Given the description of an element on the screen output the (x, y) to click on. 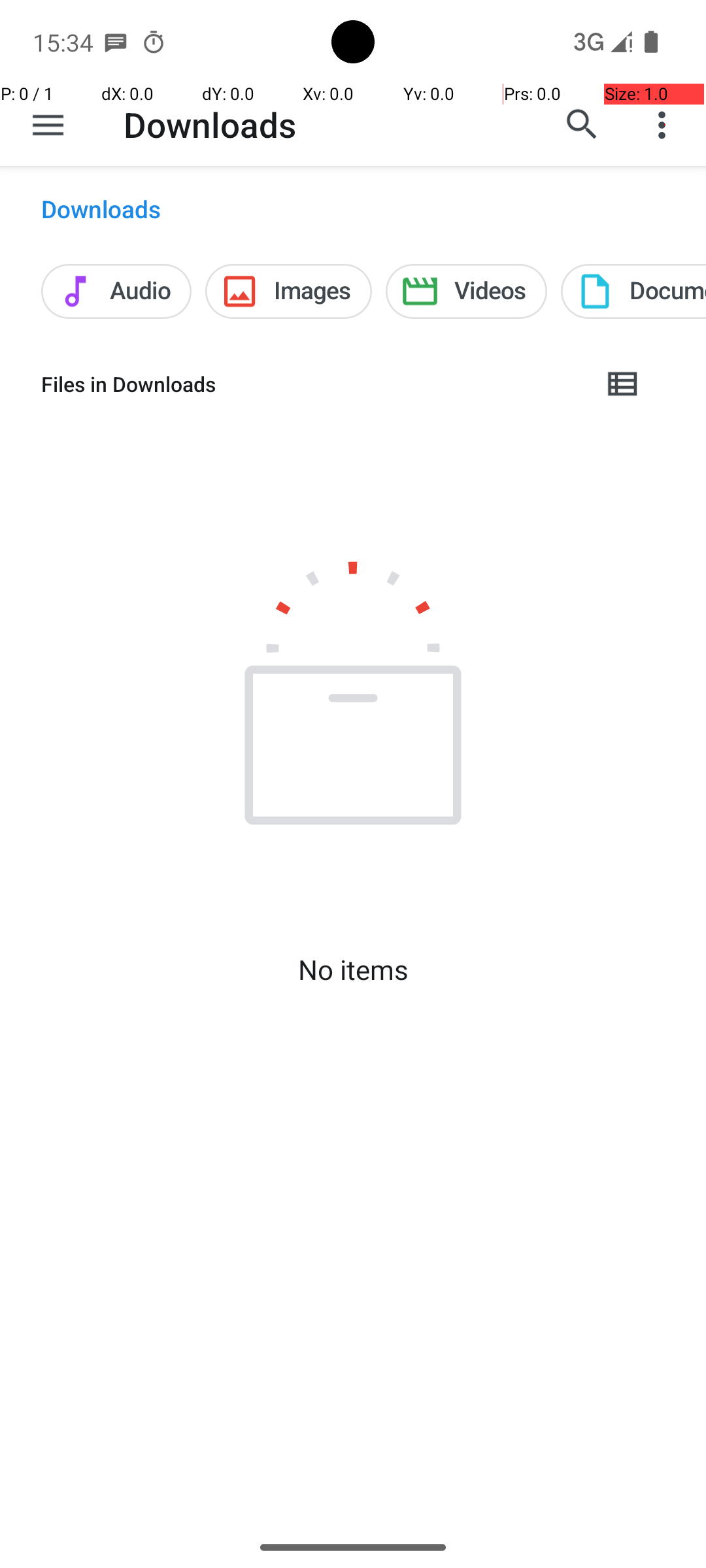
SMS Messenger notification: Amir dos Santos Element type: android.widget.ImageView (115, 41)
